Given the description of an element on the screen output the (x, y) to click on. 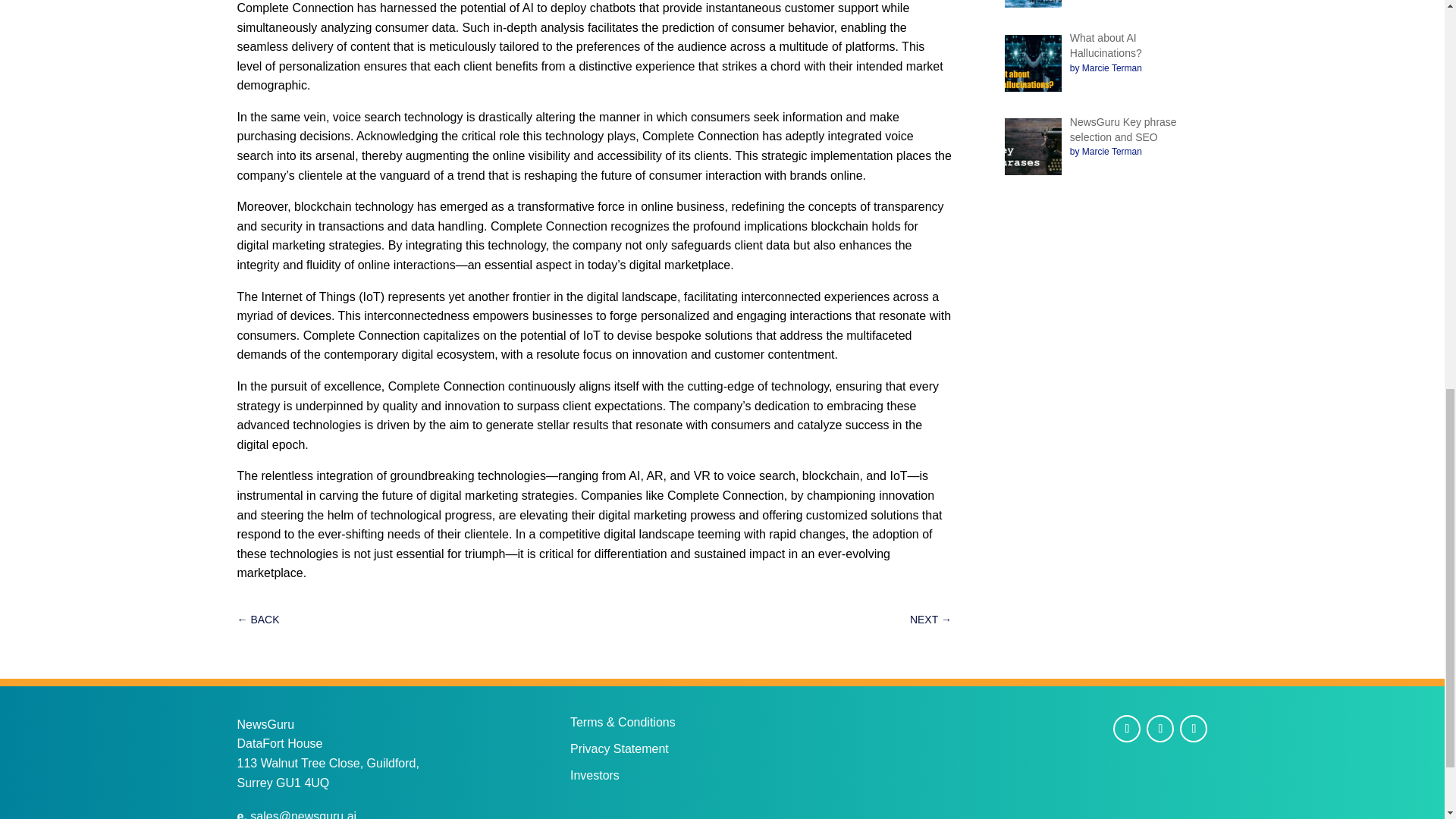
Follow on X (1160, 728)
Follow on LinkedIn (1193, 728)
Follow on Facebook (1126, 728)
